Given the description of an element on the screen output the (x, y) to click on. 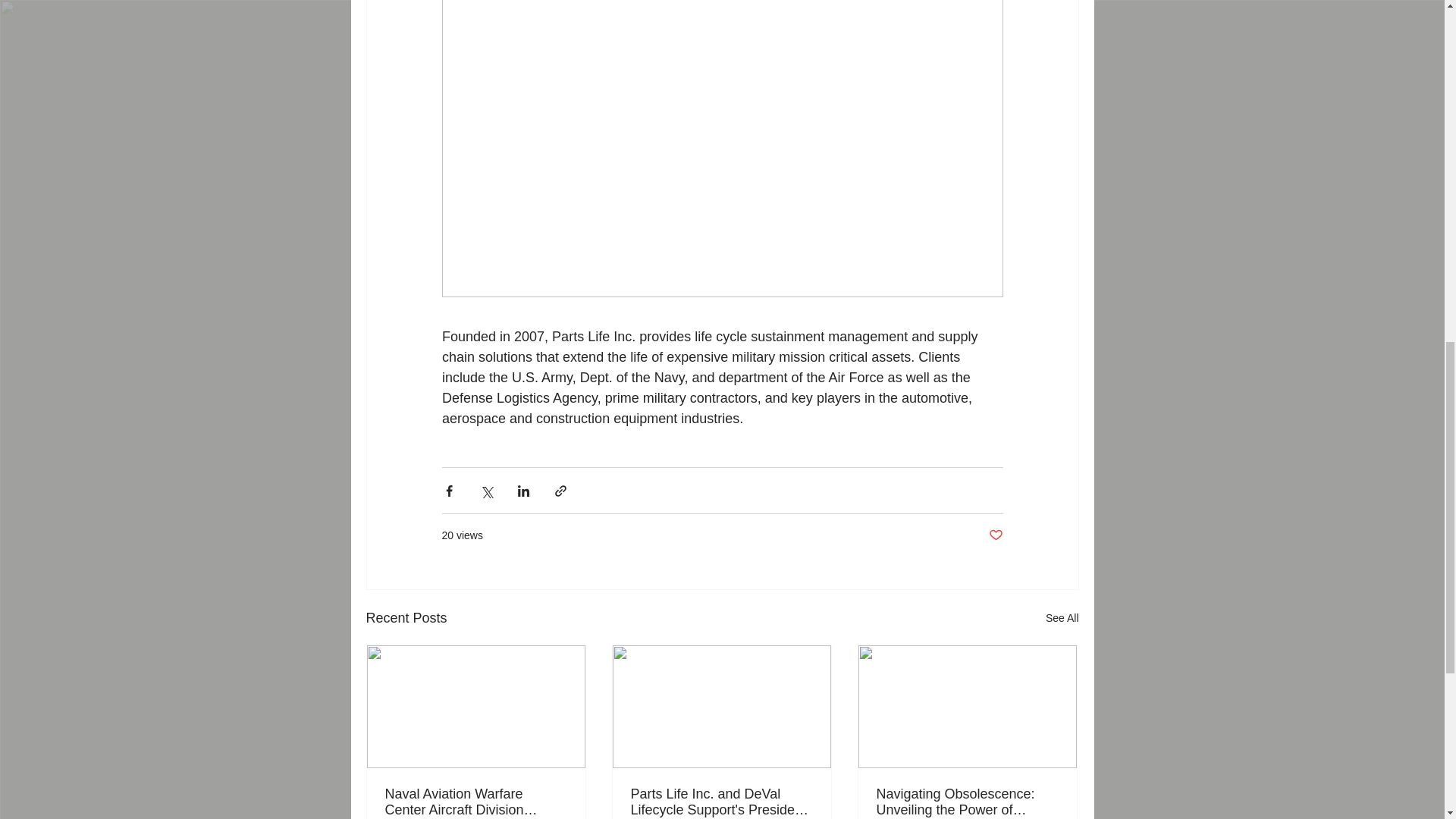
See All (1061, 618)
Post not marked as liked (995, 535)
